Given the description of an element on the screen output the (x, y) to click on. 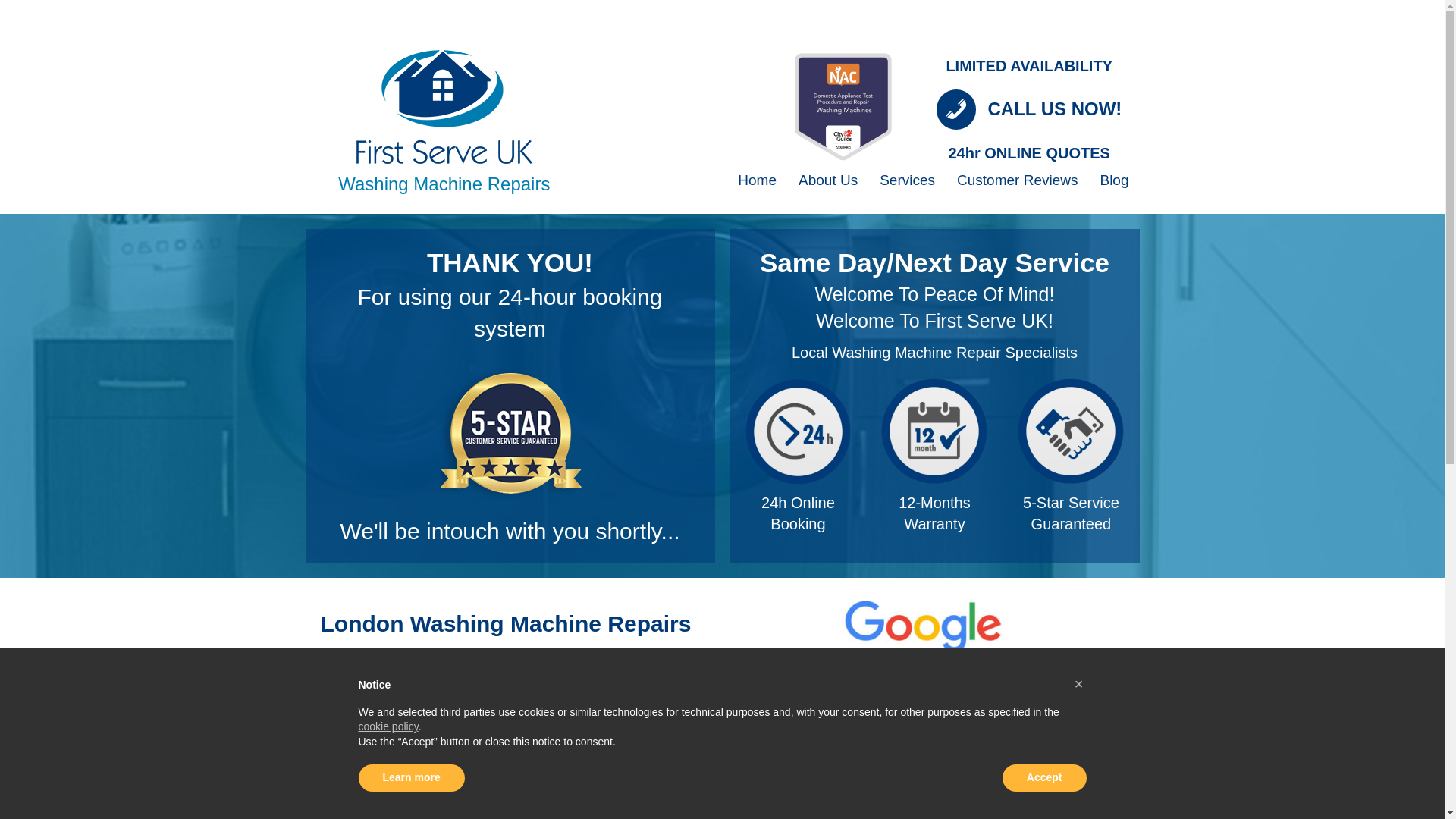
24-7-3651 (797, 431)
24h Online Booking (797, 513)
Washing Machine Repairs (443, 183)
CALL US NOW! (1054, 108)
first-serve-uk-website-logo (444, 106)
Home (756, 179)
Accept (1044, 777)
cookie policy (387, 726)
Customer Reviews (1016, 179)
Washing Machine Repairs (443, 183)
